Given the description of an element on the screen output the (x, y) to click on. 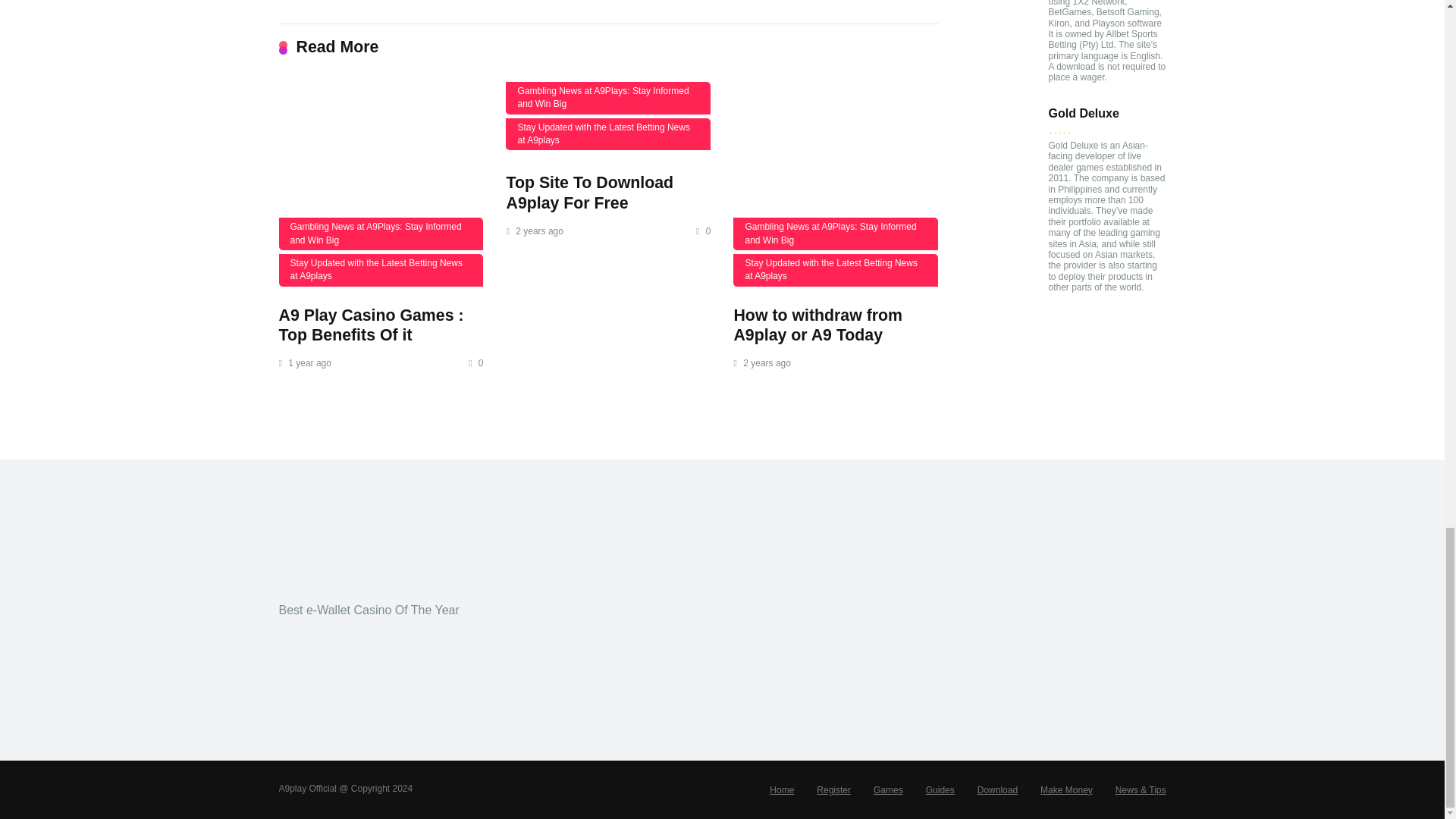
Stay Updated with the Latest Betting News at A9plays (607, 133)
A9 Play Casino Games : Top Benefits Of it (381, 183)
Gambling News at A9Plays: Stay Informed and Win Big (381, 233)
A9 Play Casino Games : Top Benefits Of it (371, 325)
How to withdraw from A9play or A9 Today (817, 325)
Gambling News at A9Plays: Stay Informed and Win Big (607, 97)
Top Site To Download A9play For Free (588, 192)
Stay Updated with the Latest Betting News at A9plays (381, 269)
Stay Updated with the Latest Betting News at A9plays (835, 269)
Top Site To Download A9play For Free (588, 192)
How to withdraw from A9play or A9 Today (817, 325)
Gambling News at A9Plays: Stay Informed and Win Big (835, 233)
A9 Play Casino Games : Top Benefits Of it (371, 325)
How to withdraw from A9play or A9 Today (835, 183)
